Given the description of an element on the screen output the (x, y) to click on. 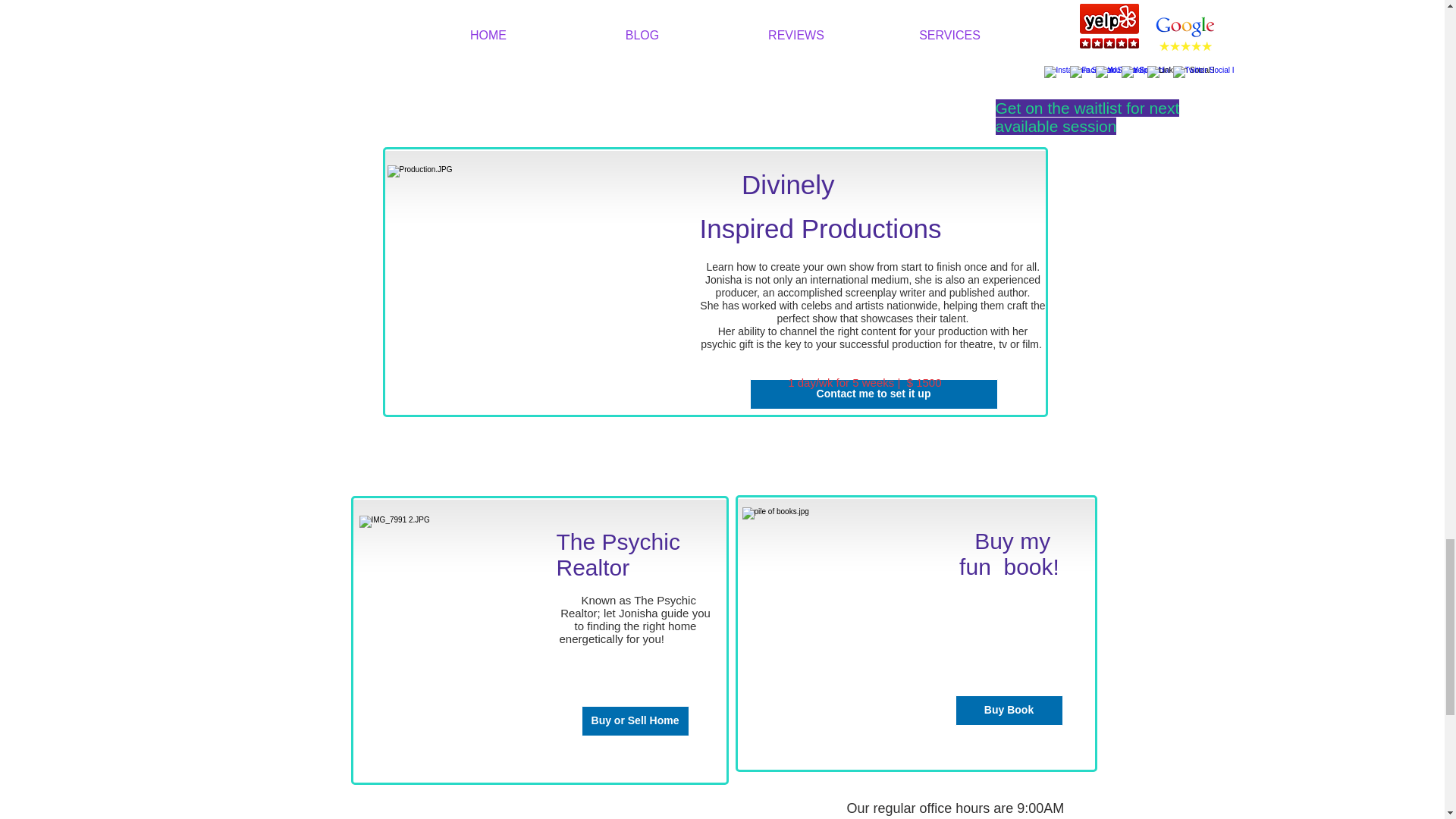
Contact me to set it up (873, 394)
Buy Book (1008, 710)
Buy or Sell Home (634, 720)
